Given the description of an element on the screen output the (x, y) to click on. 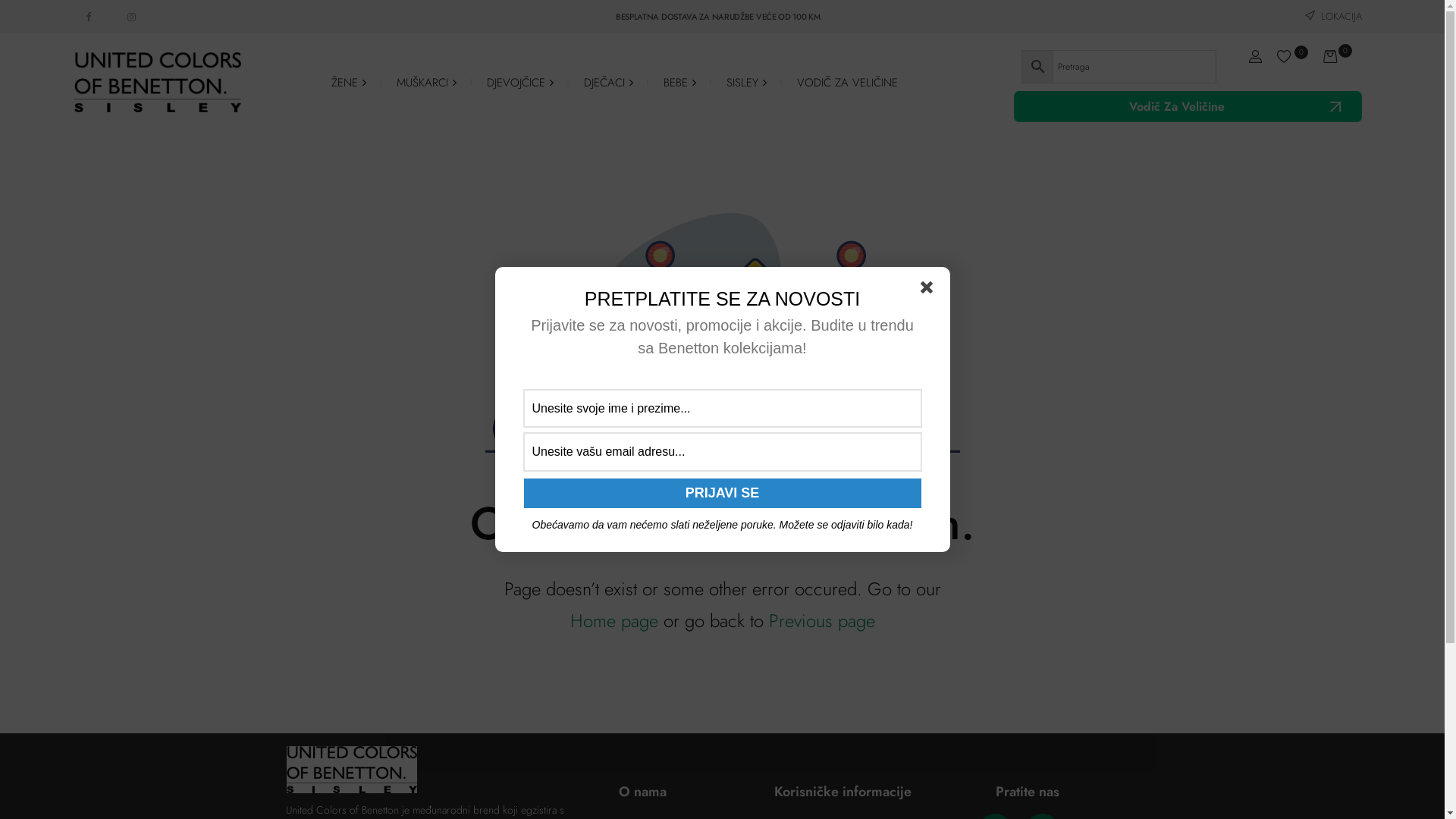
BEBE Element type: text (679, 82)
Take Action Now! Element type: text (225, 14)
Close optin form Element type: hover (929, 290)
SISLEY Element type: text (746, 82)
0 Element type: text (1337, 57)
PRIJAVI SE Element type: text (721, 493)
LOKACIJA Element type: text (1332, 16)
Previous page Element type: text (821, 620)
0 Element type: text (1292, 57)
ben-sisl-logo Element type: hover (351, 769)
Home page Element type: text (614, 620)
